Given the description of an element on the screen output the (x, y) to click on. 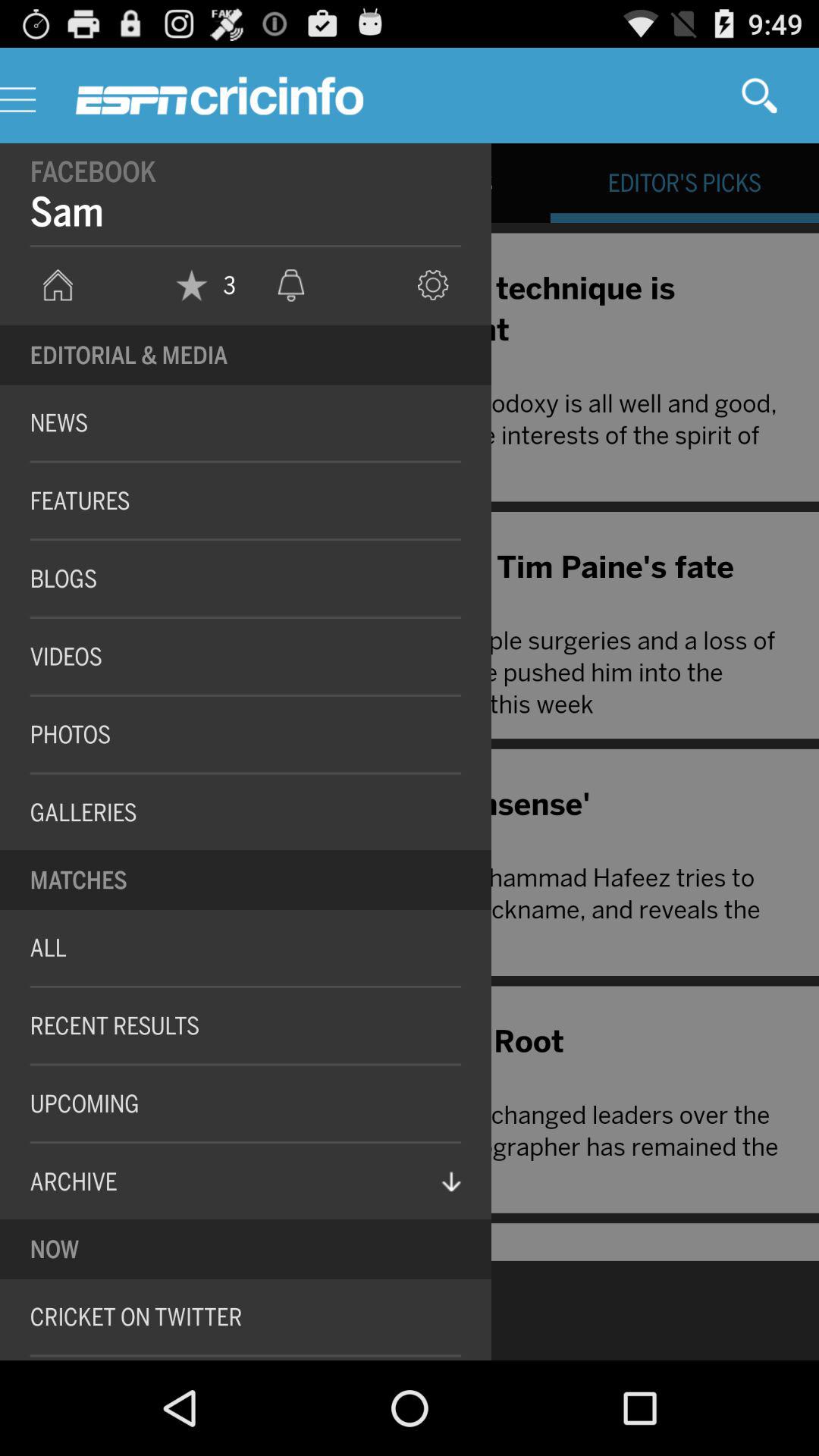
select the editors picks (684, 182)
